Given the description of an element on the screen output the (x, y) to click on. 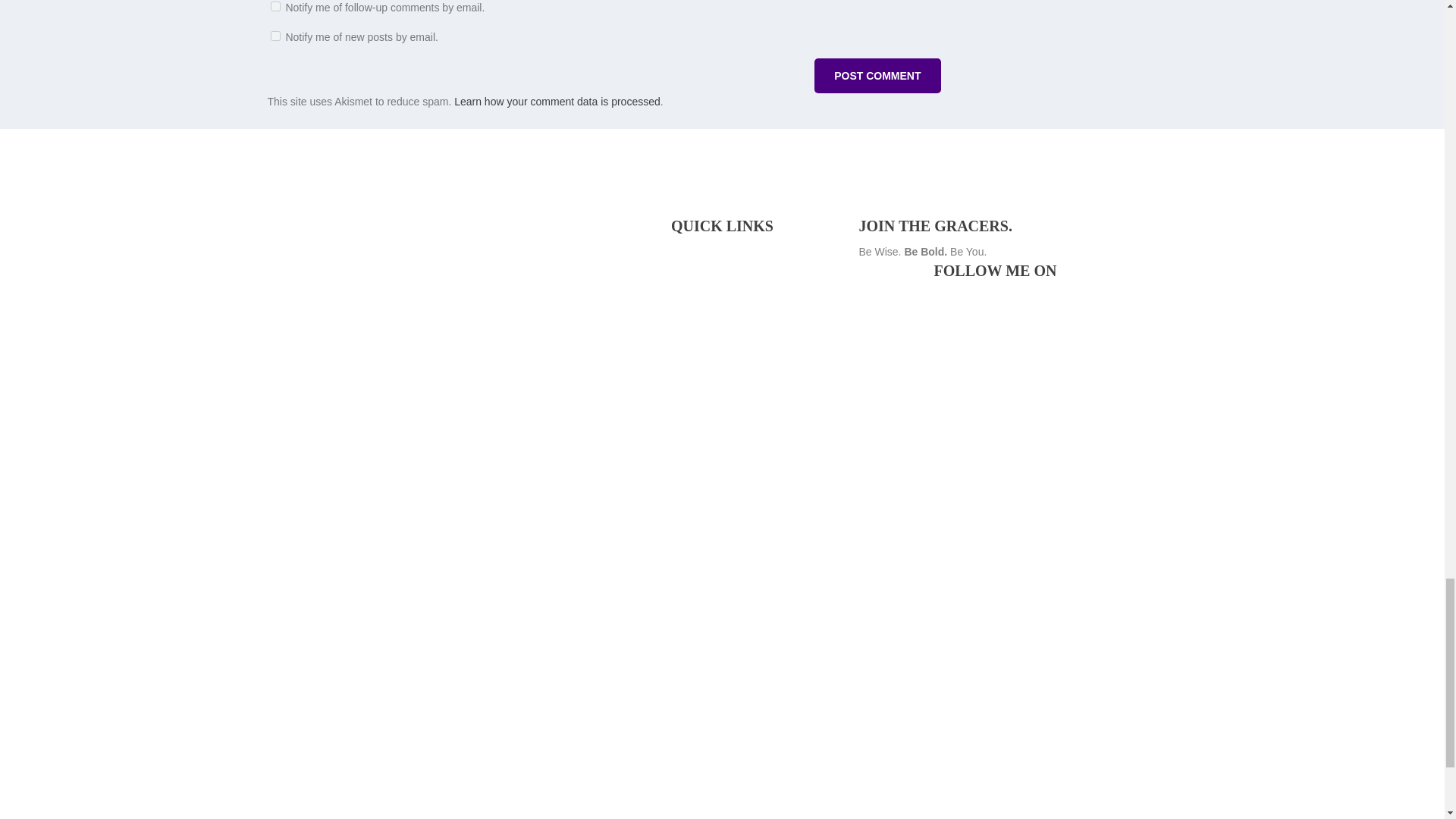
subscribe (274, 6)
Post Comment (876, 75)
subscribe (274, 35)
